Given the description of an element on the screen output the (x, y) to click on. 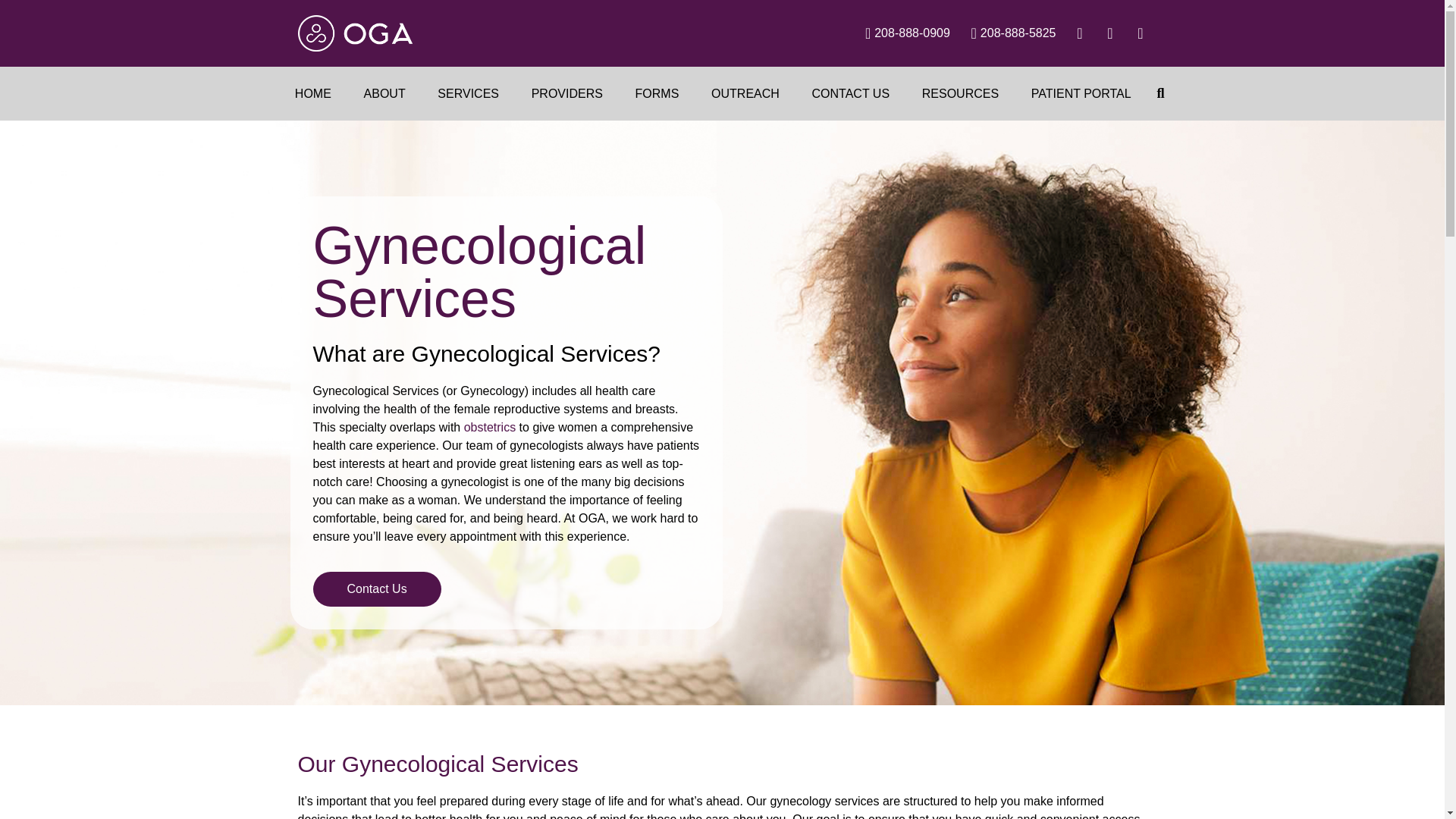
SERVICES (468, 93)
RESOURCES (959, 93)
CONTACT US (849, 93)
ABOUT (384, 93)
FORMS (656, 93)
PATIENT PORTAL (1080, 93)
PROVIDERS (566, 93)
HOME (313, 93)
OUTREACH (744, 93)
208-888-0909 (900, 33)
